Given the description of an element on the screen output the (x, y) to click on. 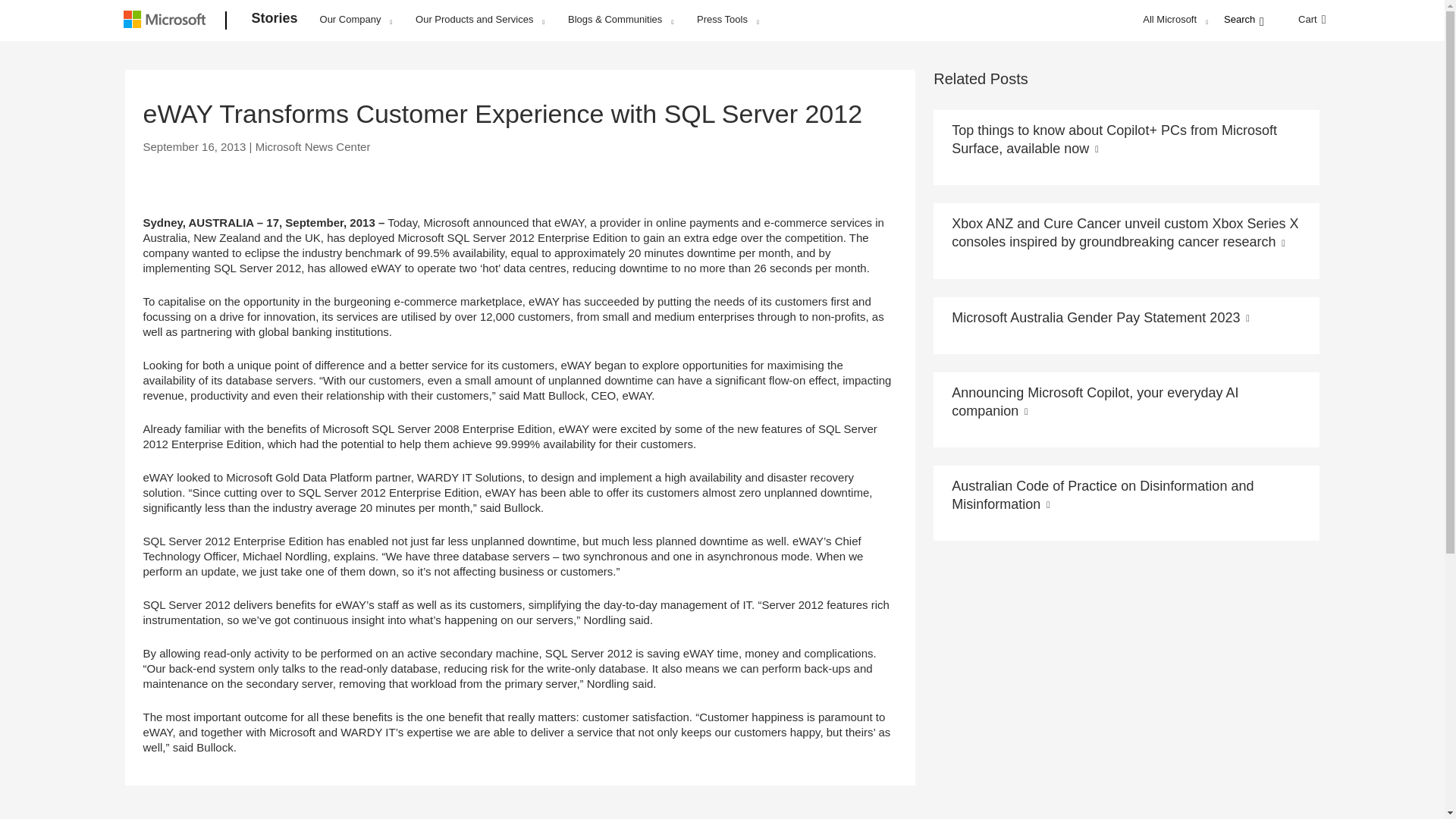
Microsoft (167, 20)
Stories (274, 20)
Our Products and Services (479, 18)
Our Company (355, 18)
